Given the description of an element on the screen output the (x, y) to click on. 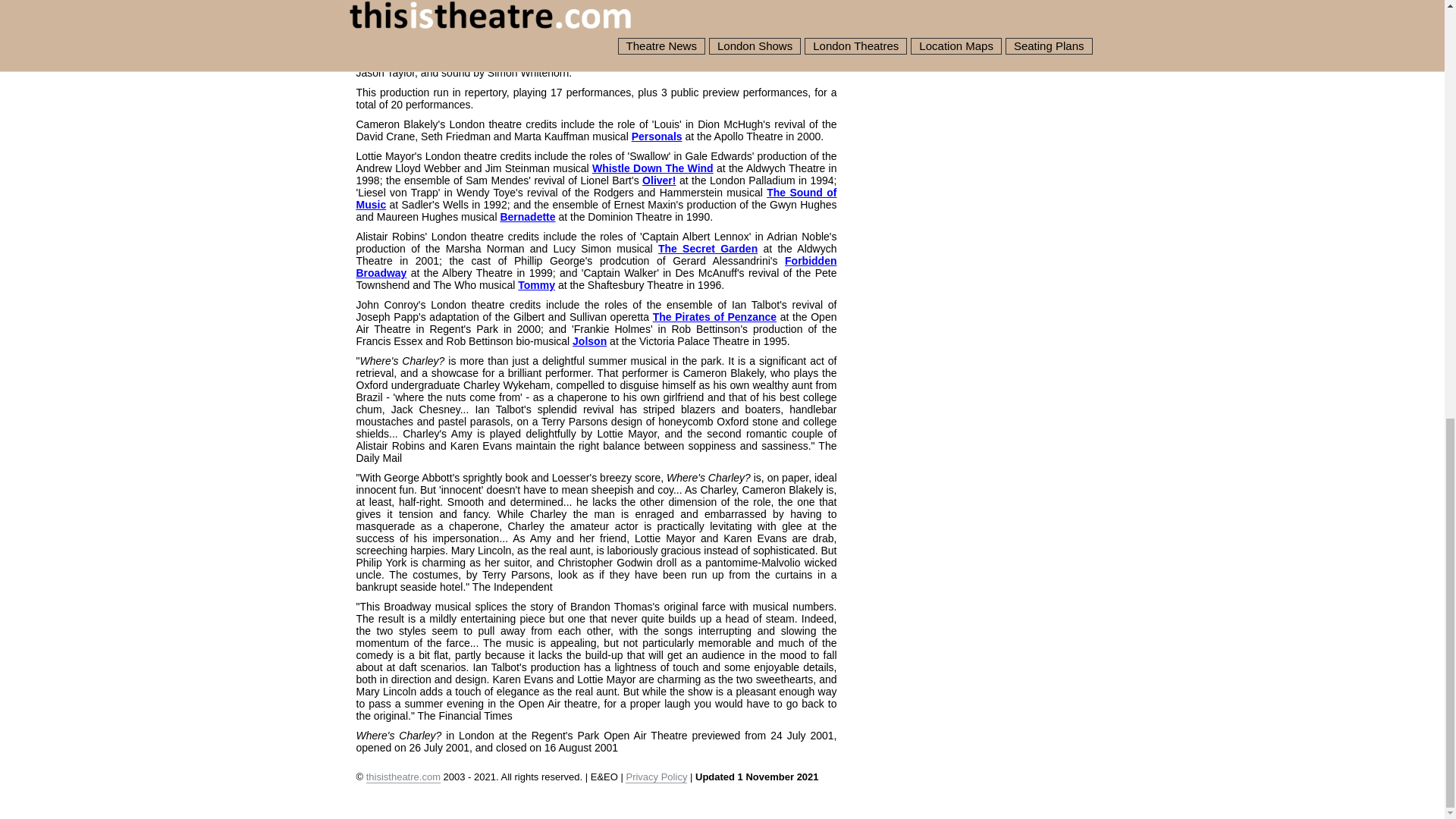
The Secret Garden (707, 248)
Jolson (589, 340)
The Pirates of Penzance (714, 316)
Forbidden Broadway (596, 266)
The Sound of Music (596, 198)
Personals (656, 136)
thisistheatre.com (403, 776)
Oliver! (658, 180)
Privacy Policy (656, 776)
Whistle Down The Wind (652, 168)
Tommy (536, 285)
Bernadette (526, 216)
